Given the description of an element on the screen output the (x, y) to click on. 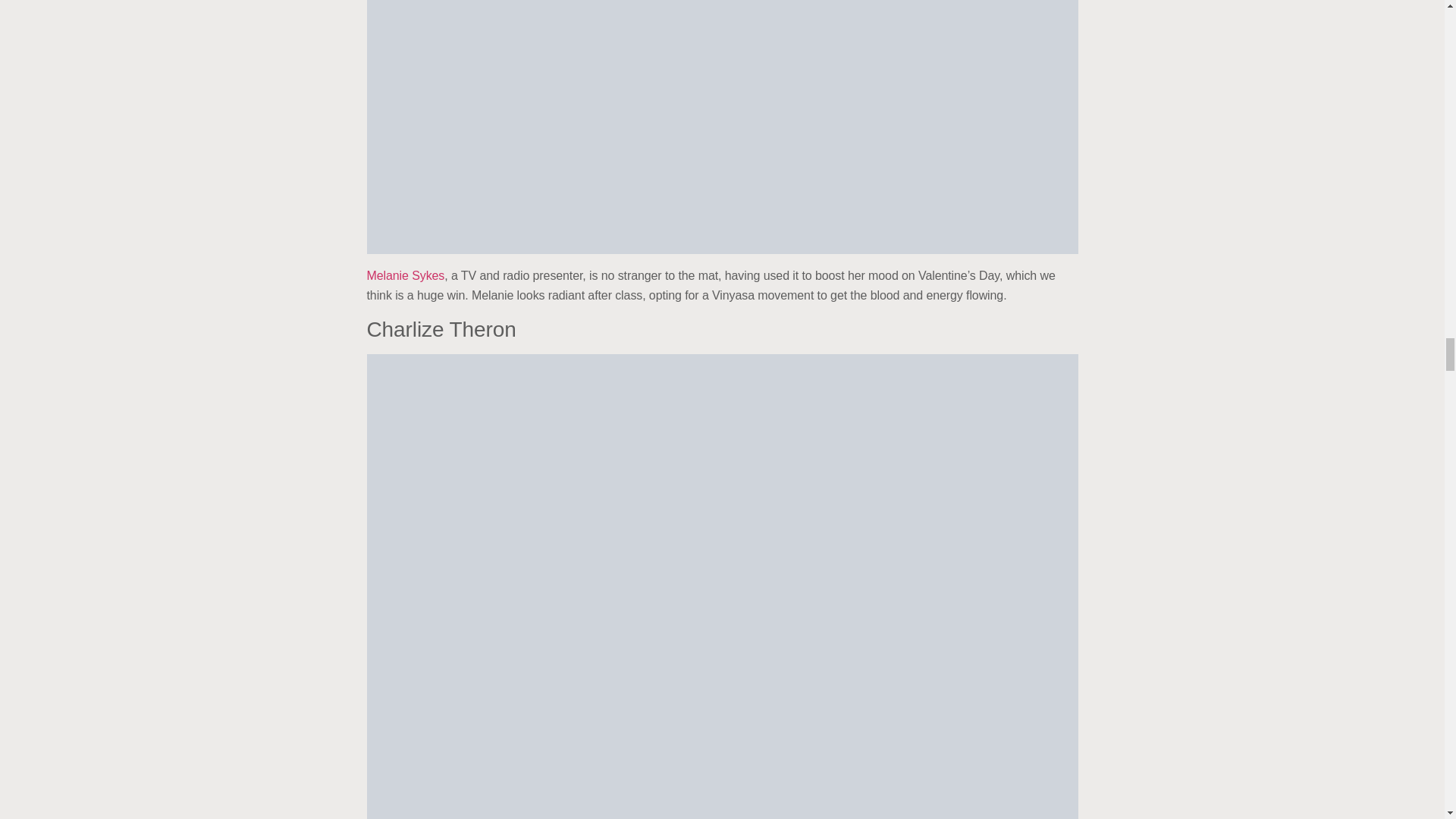
Melanie Sykes (405, 275)
